Given the description of an element on the screen output the (x, y) to click on. 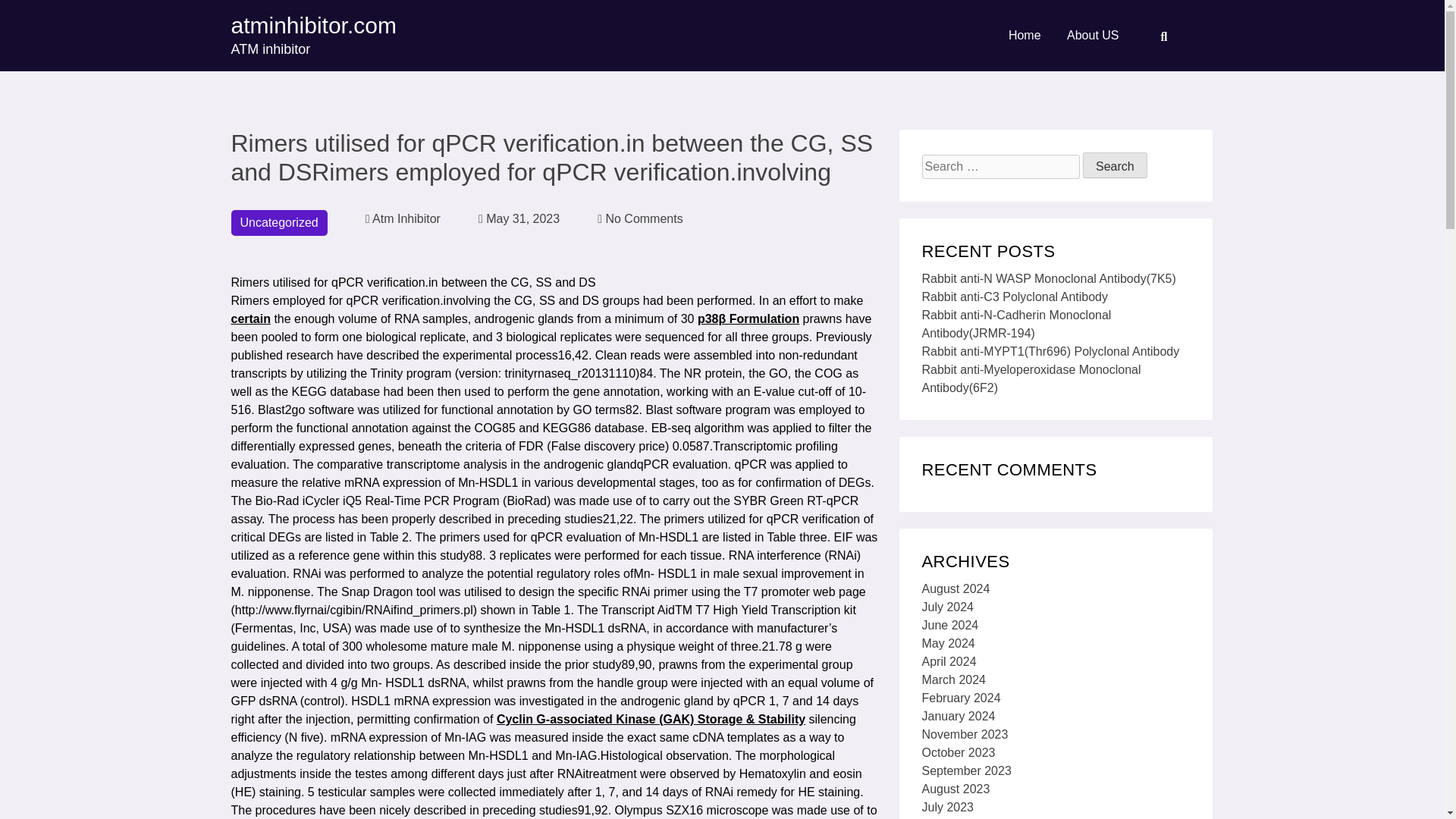
July 2023 (947, 807)
Search (1115, 165)
August 2023 (955, 788)
June 2024 (949, 625)
October 2023 (958, 752)
Search (1115, 165)
About US (1092, 35)
No Comments (639, 218)
Uncategorized (278, 222)
February 2024 (961, 697)
March 2024 (954, 679)
August 2024 (955, 588)
Atm Inhibitor (313, 35)
certain (403, 218)
